Given the description of an element on the screen output the (x, y) to click on. 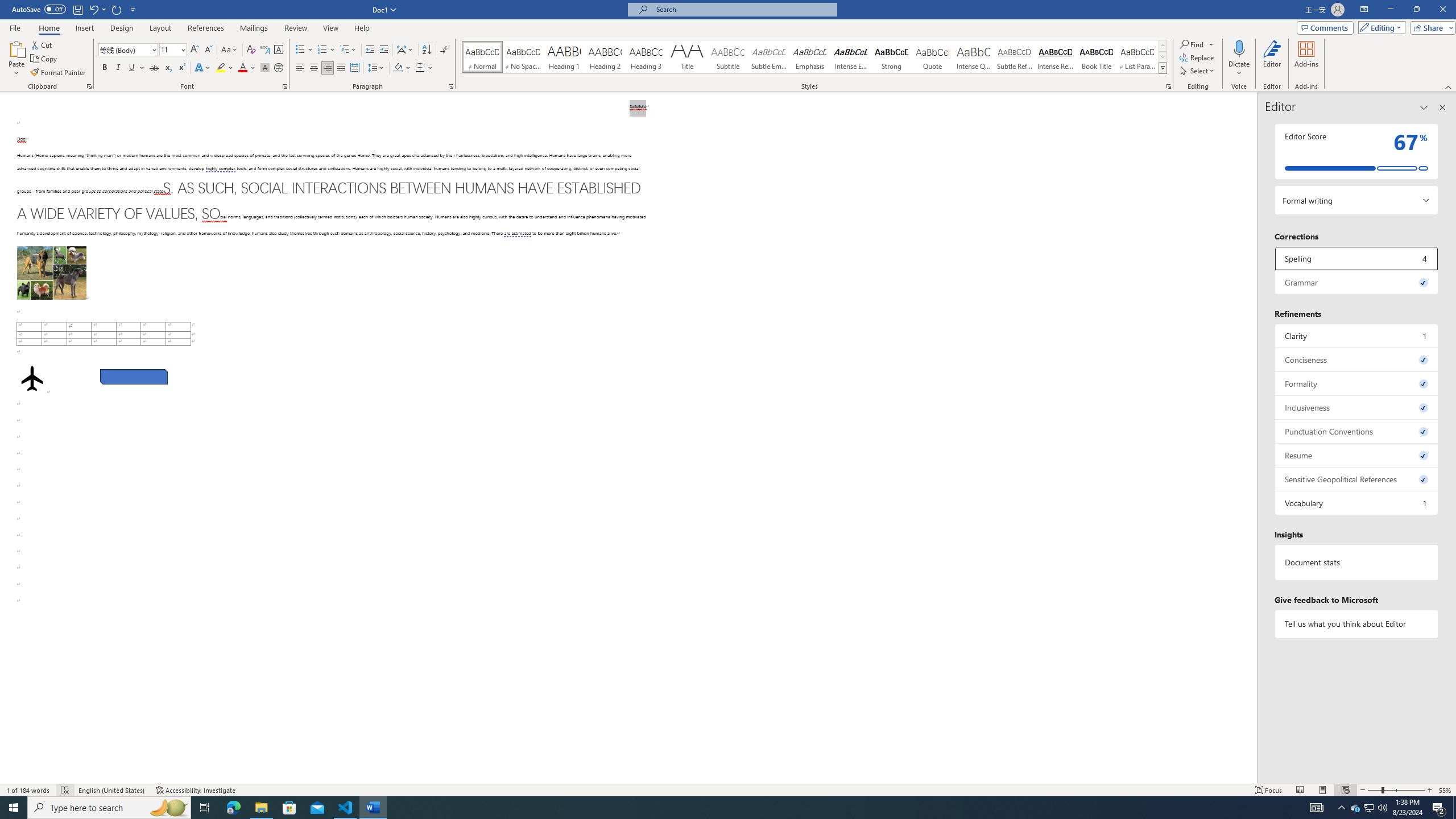
Editor Score 67% (1356, 151)
Editing (1379, 27)
Tell us what you think about Editor (1356, 624)
Airplane with solid fill (31, 378)
Document statistics (1356, 561)
Spelling, 4 issues. Press space or enter to review items. (1356, 258)
